Given the description of an element on the screen output the (x, y) to click on. 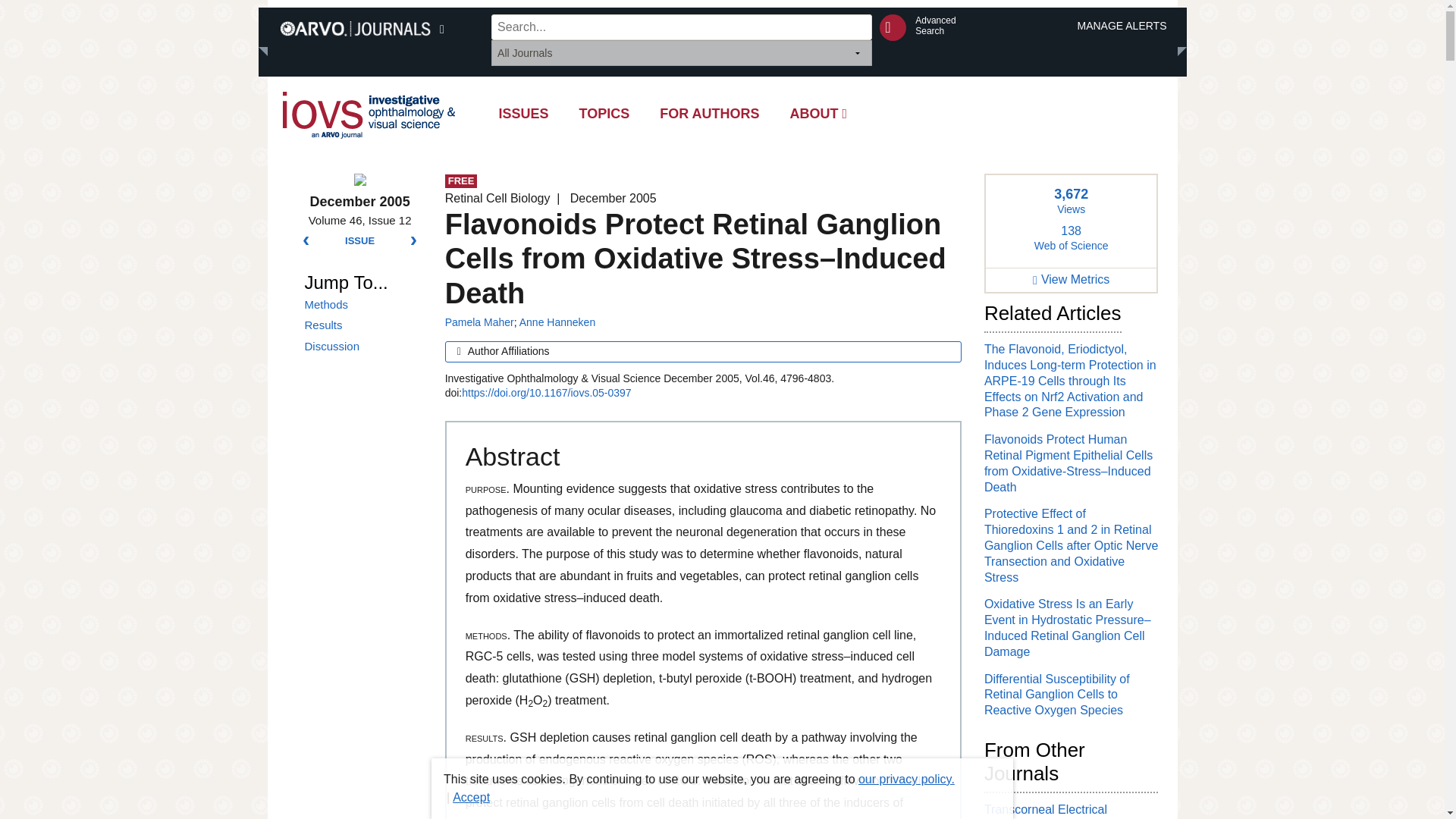
ISSUE (359, 241)
Methods (362, 304)
Methods (362, 304)
Discussion (362, 346)
TOPICS (604, 114)
FOR AUTHORS (709, 114)
ISSUES (523, 114)
Discussion (362, 346)
Results (362, 324)
Anne Hanneken (557, 322)
